Given the description of an element on the screen output the (x, y) to click on. 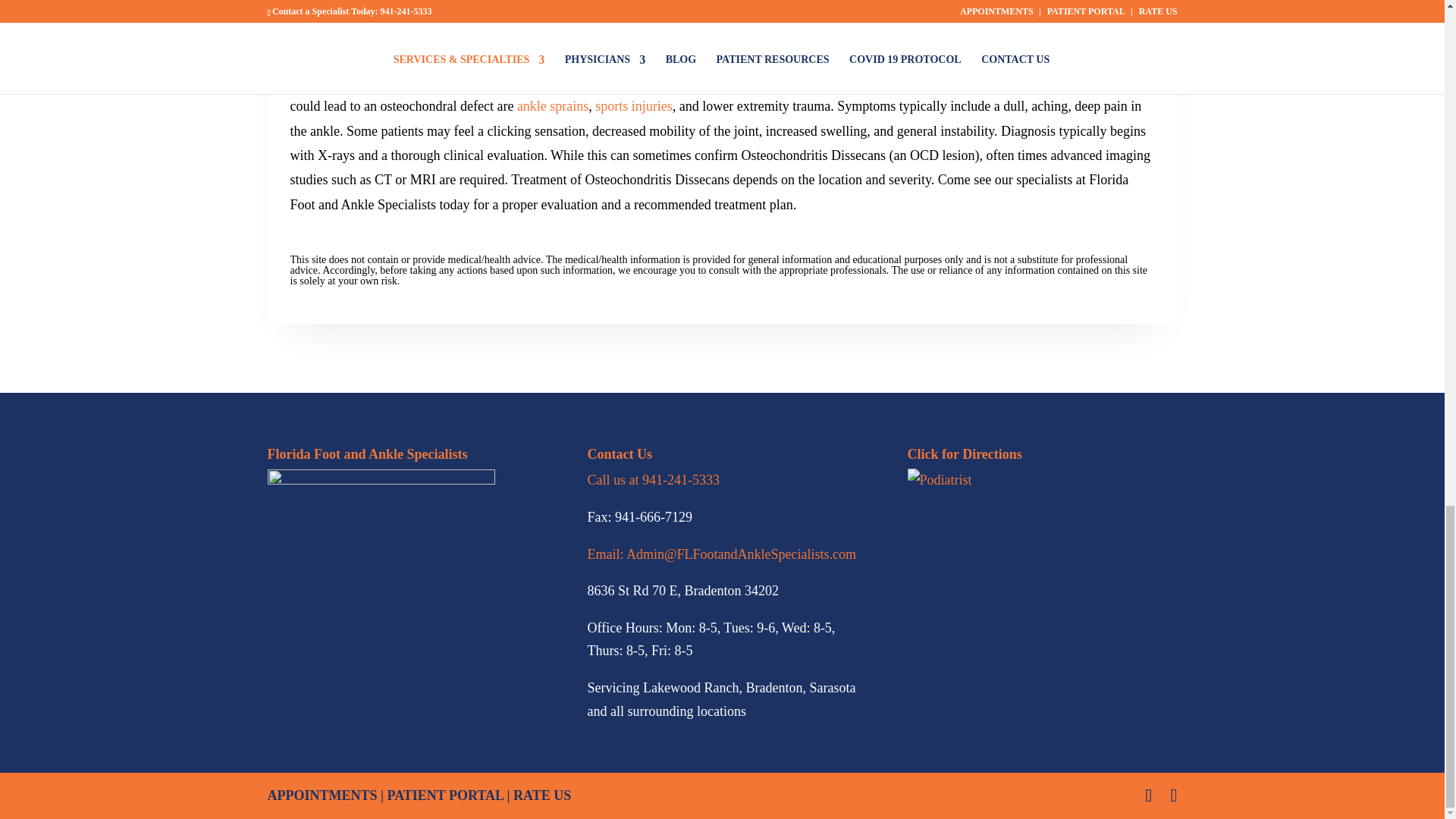
Click for Directions (939, 480)
